Given the description of an element on the screen output the (x, y) to click on. 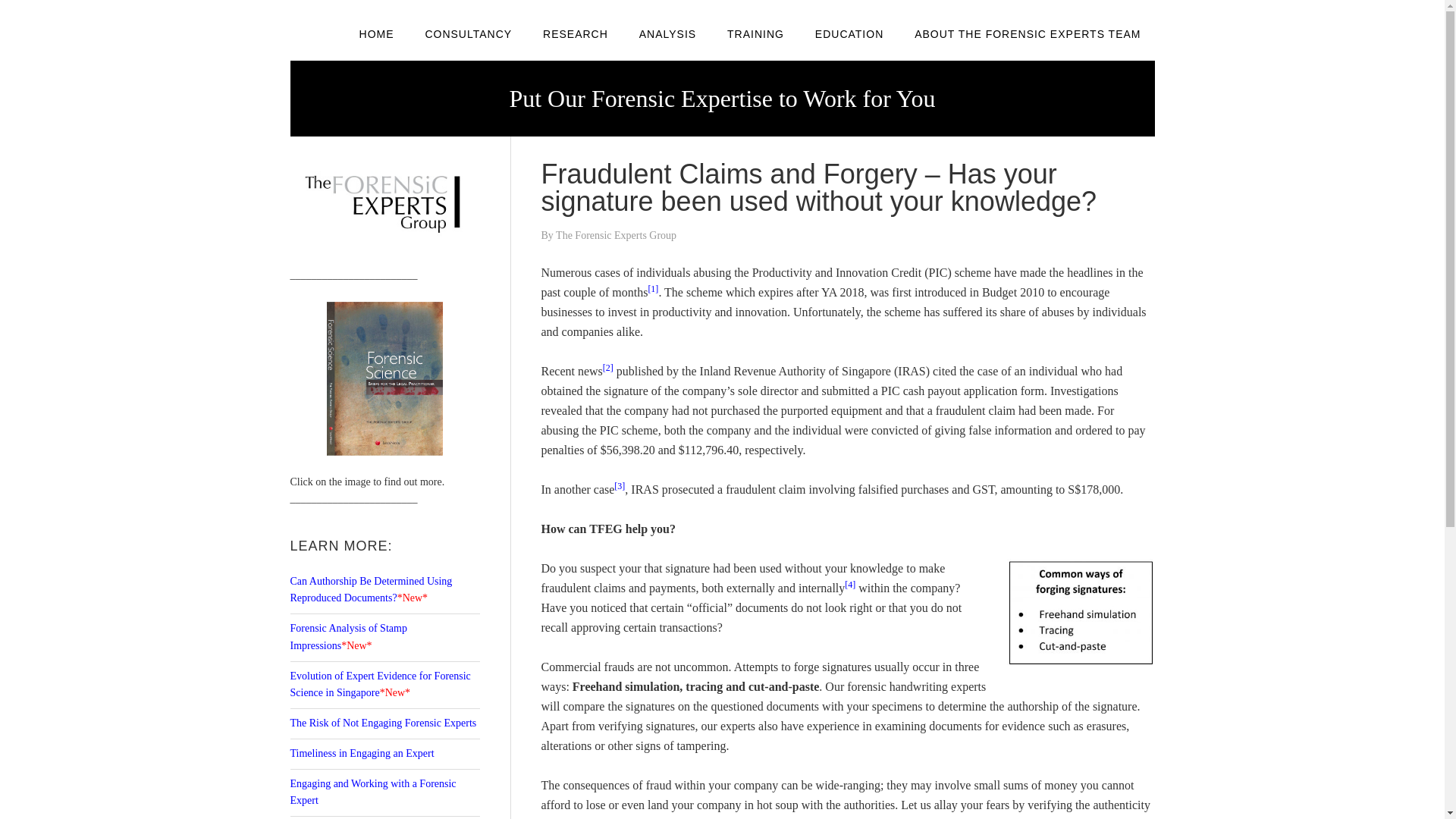
RESEARCH (575, 33)
Timeliness in Engaging an Expert (361, 753)
TRAINING (755, 33)
Engaging and Working with a Forensic Expert (372, 792)
The Risk of Not Engaging Forensic Experts (382, 722)
CONSULTANCY (467, 33)
HOME (376, 33)
EDUCATION (849, 33)
ABOUT THE FORENSIC EXPERTS TEAM (1027, 33)
ANALYSIS (668, 33)
